Given the description of an element on the screen output the (x, y) to click on. 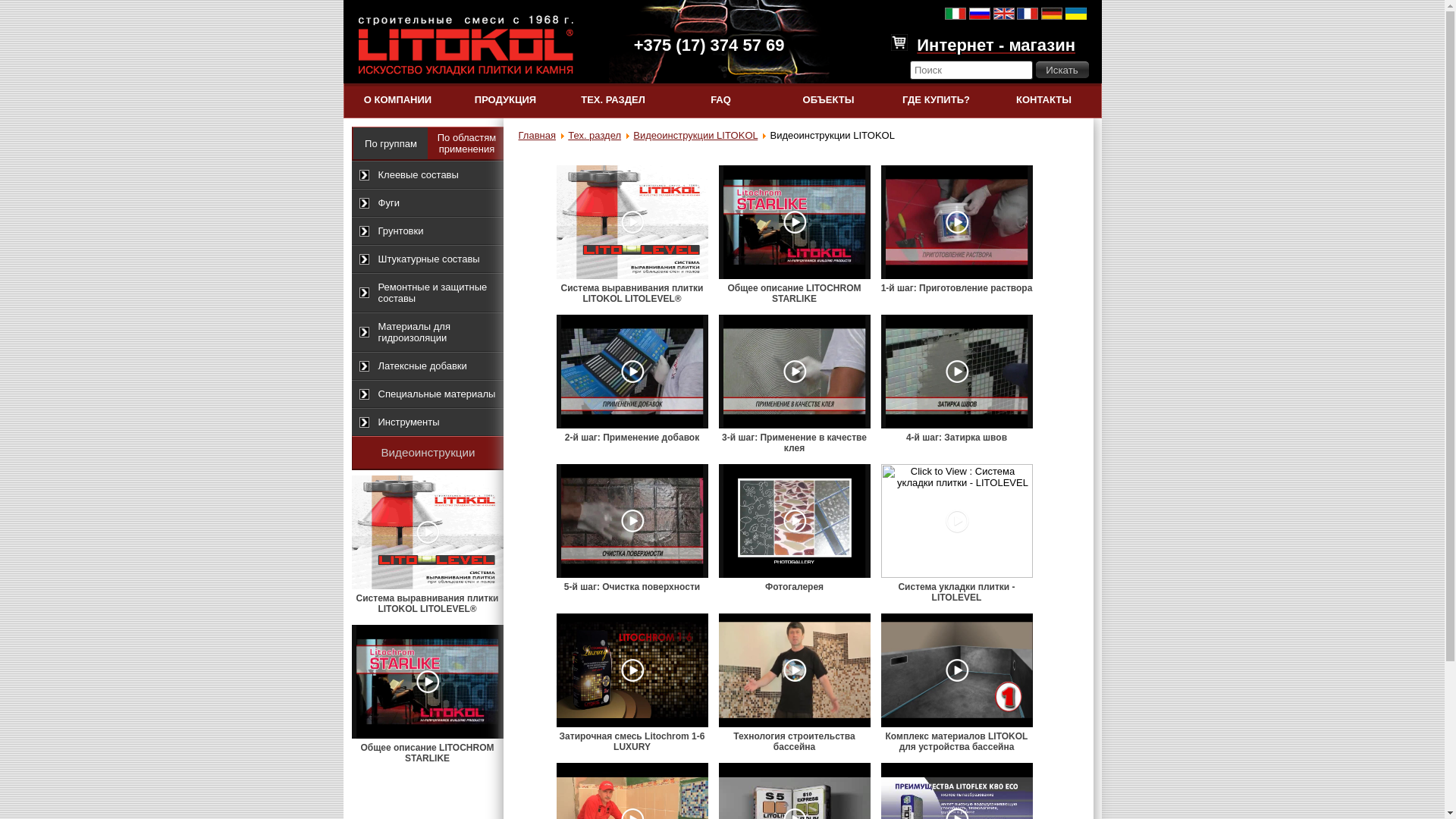
FAQ Element type: text (721, 99)
